Given the description of an element on the screen output the (x, y) to click on. 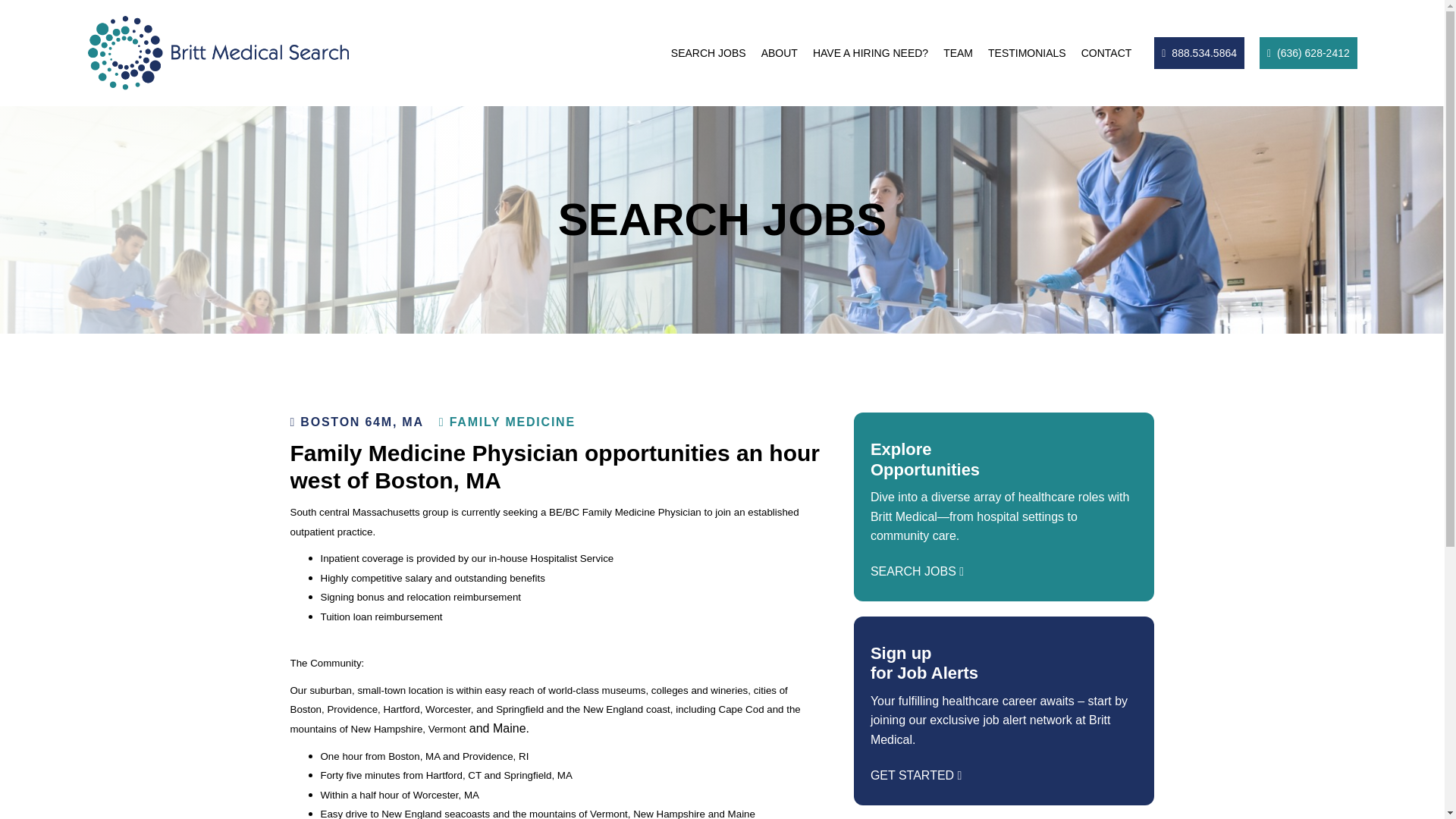
CONTACT (1107, 52)
TEAM (957, 52)
SEARCH JOBS (708, 52)
Britt Medical Search Logo (218, 52)
HAVE A HIRING NEED? (870, 52)
TESTIMONIALS (1026, 52)
888.534.5864 (1199, 52)
ABOUT (779, 52)
